Given the description of an element on the screen output the (x, y) to click on. 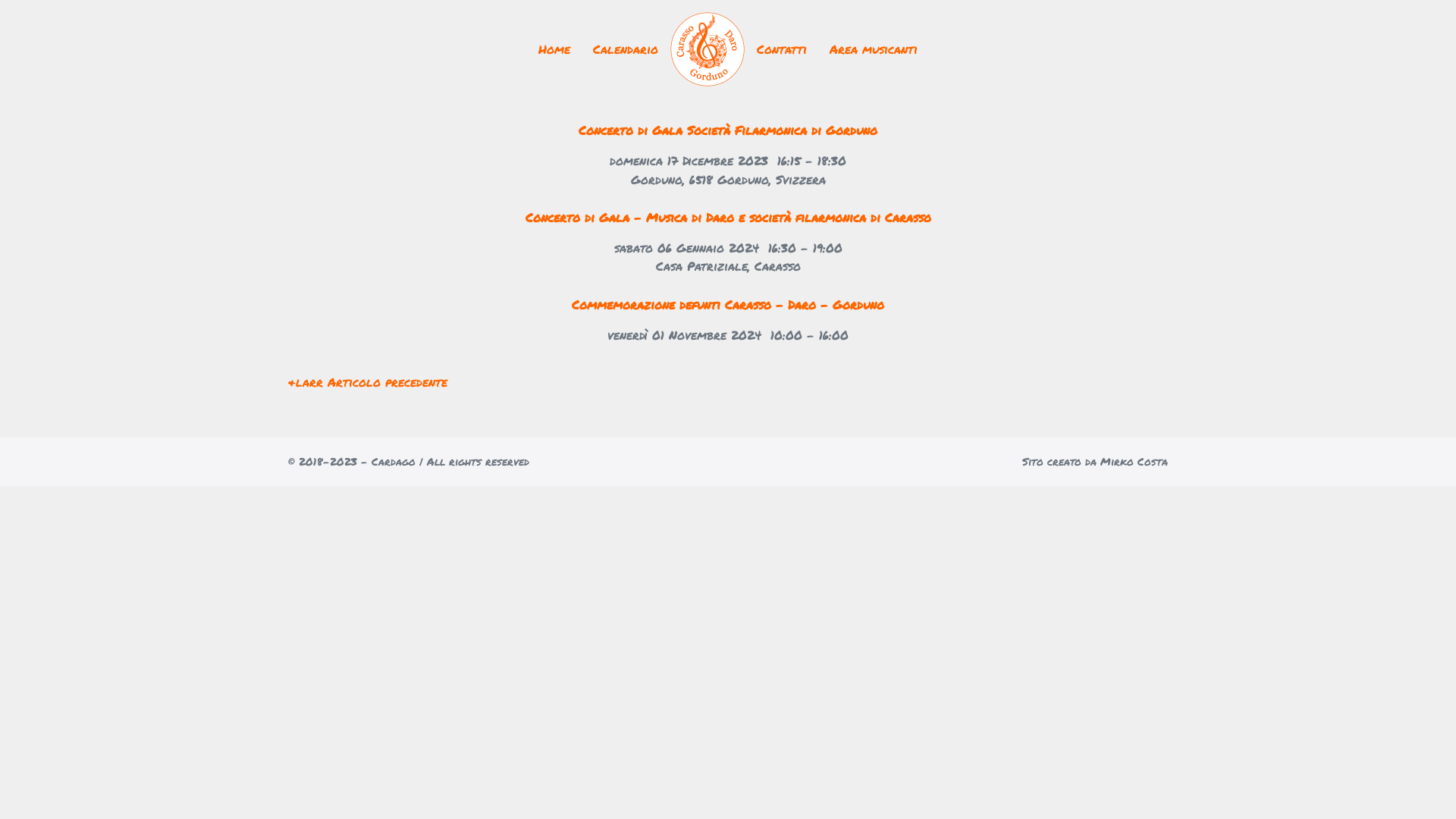
Area musicanti Element type: text (873, 48)
Cardago Element type: hover (707, 49)
&larr Articolo precedente Element type: text (367, 381)
Contatti Element type: text (781, 48)
Calendario Element type: text (625, 48)
Home Element type: text (554, 48)
